Given the description of an element on the screen output the (x, y) to click on. 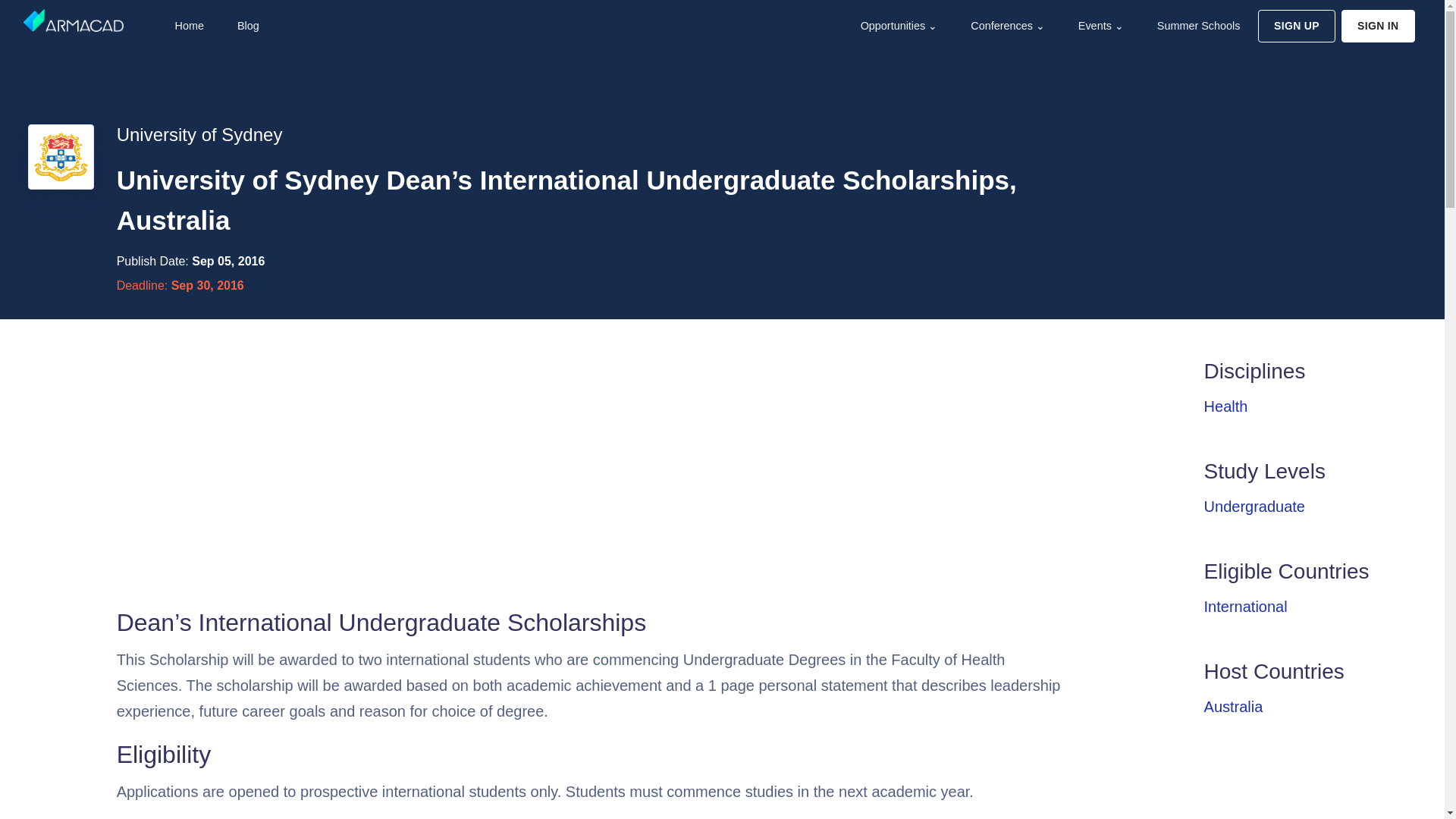
Blog (246, 25)
ARMACAD Home Page (73, 20)
University of Sydney (199, 134)
ARMACAD Home Page (186, 25)
SIGN UP (1296, 25)
The ARMACAD Blog (246, 25)
SIGN IN (1377, 25)
Home (186, 25)
Summer Schools (1196, 25)
